Given the description of an element on the screen output the (x, y) to click on. 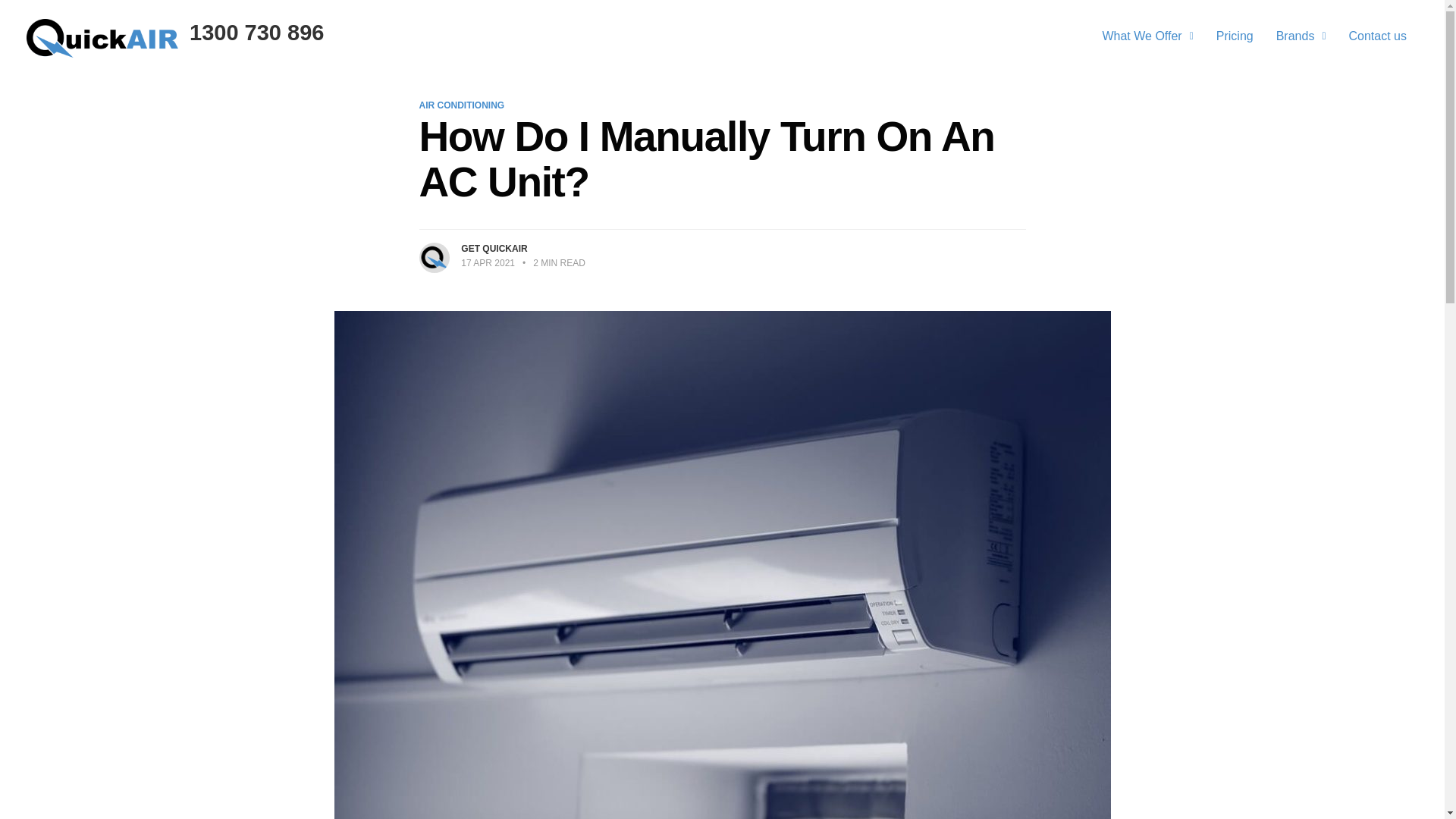
What We Offer (1147, 36)
Pricing (1235, 36)
AIR CONDITIONING (461, 104)
Brands (1301, 36)
1300 730 896 (256, 32)
Contact us (1378, 36)
